Given the description of an element on the screen output the (x, y) to click on. 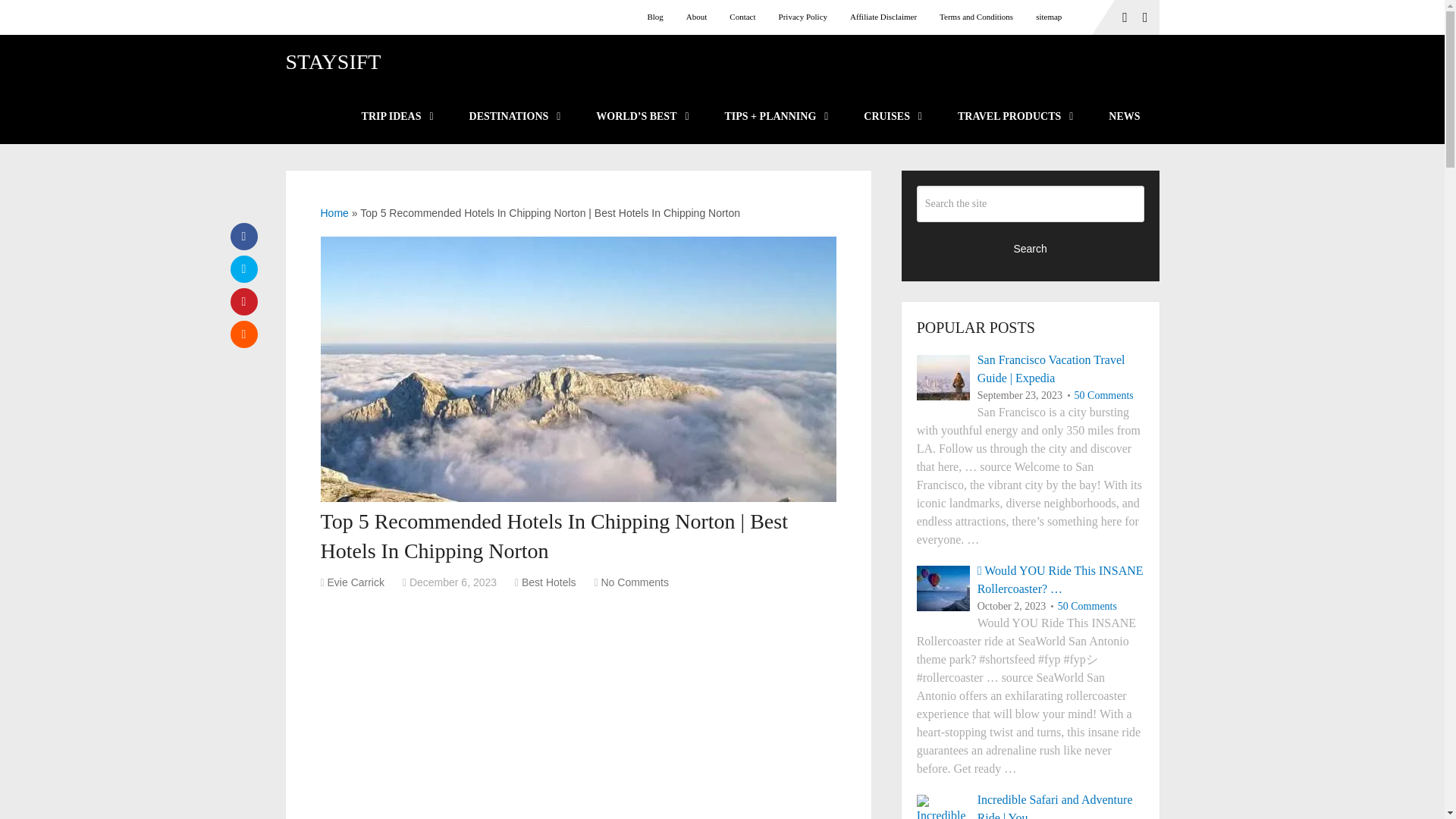
DESTINATIONS (513, 116)
STAYSIFT (332, 61)
Terms and Conditions (976, 16)
Contact (742, 16)
TRIP IDEAS (395, 116)
About (697, 16)
TRAVEL PRODUCTS (1014, 116)
Affiliate Disclaimer (883, 16)
sitemap (1049, 16)
CRUISES (891, 116)
Privacy Policy (802, 16)
View all posts in Best Hotels (548, 582)
Posts by Evie Carrick (355, 582)
